Given the description of an element on the screen output the (x, y) to click on. 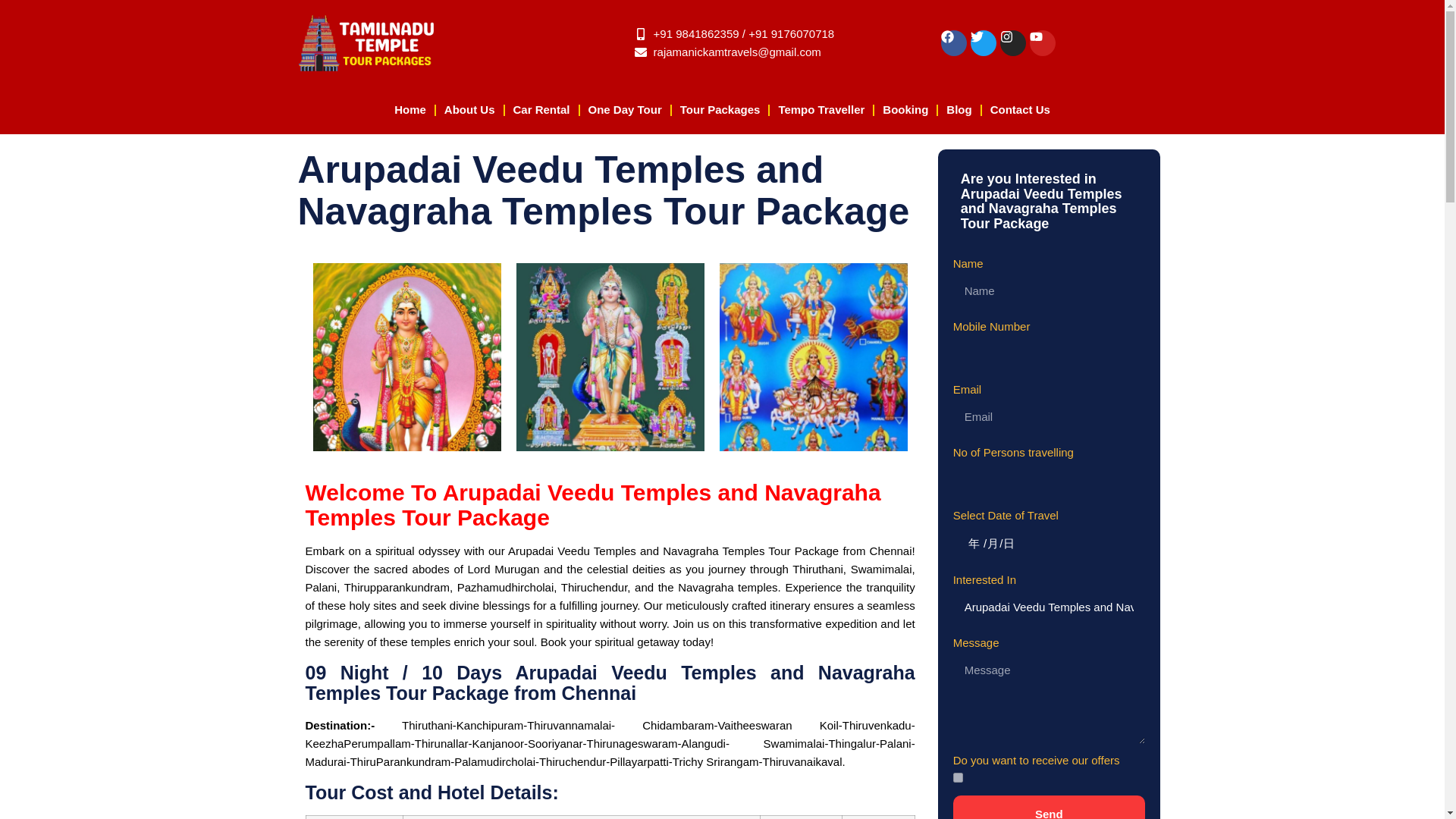
One Day Tour (625, 110)
on (957, 777)
About Us (469, 110)
Arupadai Veedu Temples and Navagraha Temples Tour Package (1048, 607)
Car Rental (540, 110)
Home (410, 110)
Tour Packages (720, 110)
